Given the description of an element on the screen output the (x, y) to click on. 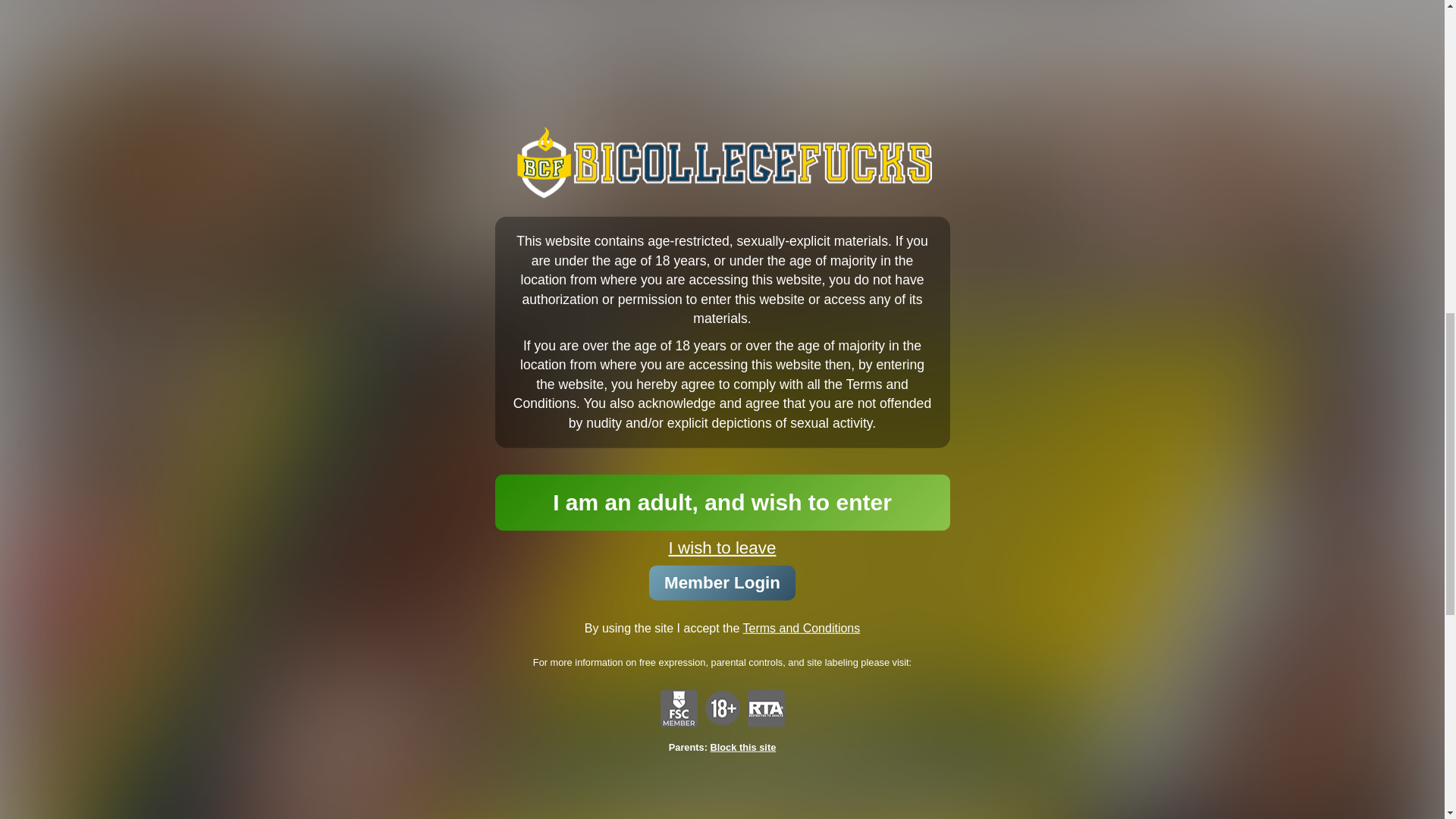
Alex And Kimberly Drain Kellan (1075, 281)
Alex And Kimberly Drain Kellan (1075, 281)
